Given the description of an element on the screen output the (x, y) to click on. 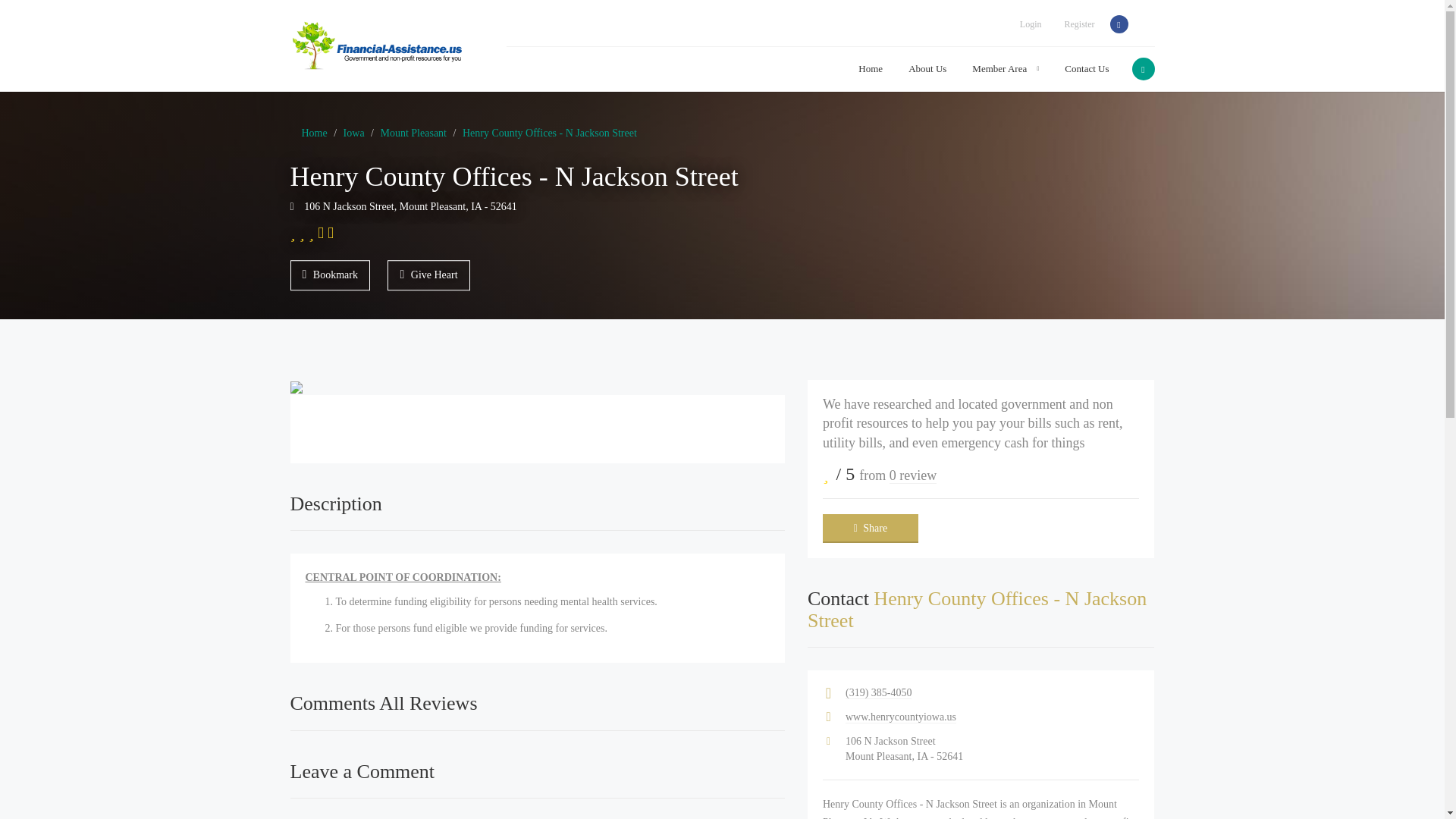
www.henrycountyiowa.us (900, 717)
Home (870, 68)
Iowa (354, 132)
About Us (927, 68)
Contact Us (1079, 68)
Login (1030, 24)
Mount Pleasant (413, 132)
Henry County Offices - N Jackson Street (550, 132)
Member Area (1005, 68)
0 review (912, 475)
Home (314, 132)
Register (1078, 24)
